Given the description of an element on the screen output the (x, y) to click on. 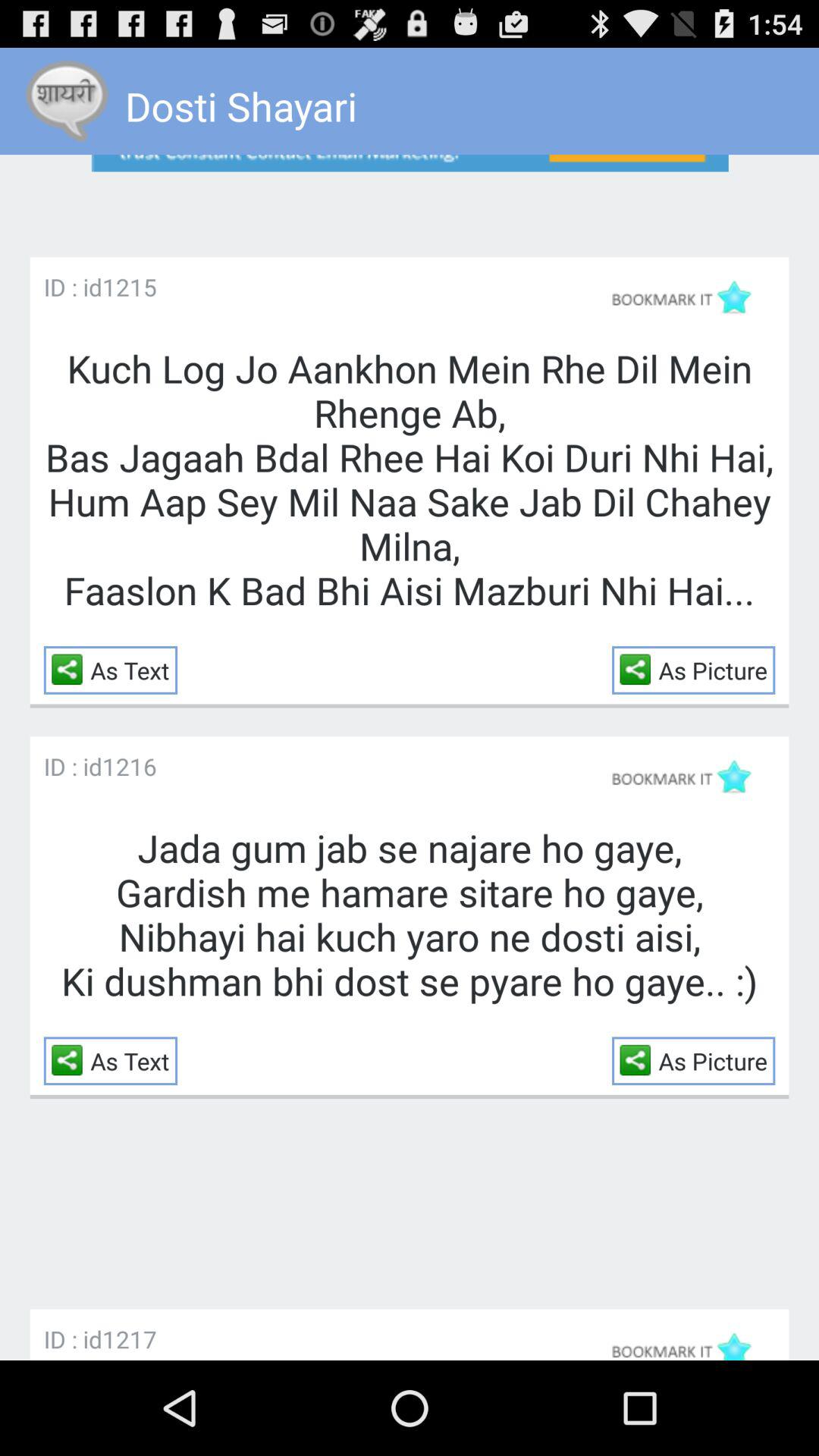
bookmark this (688, 776)
